Given the description of an element on the screen output the (x, y) to click on. 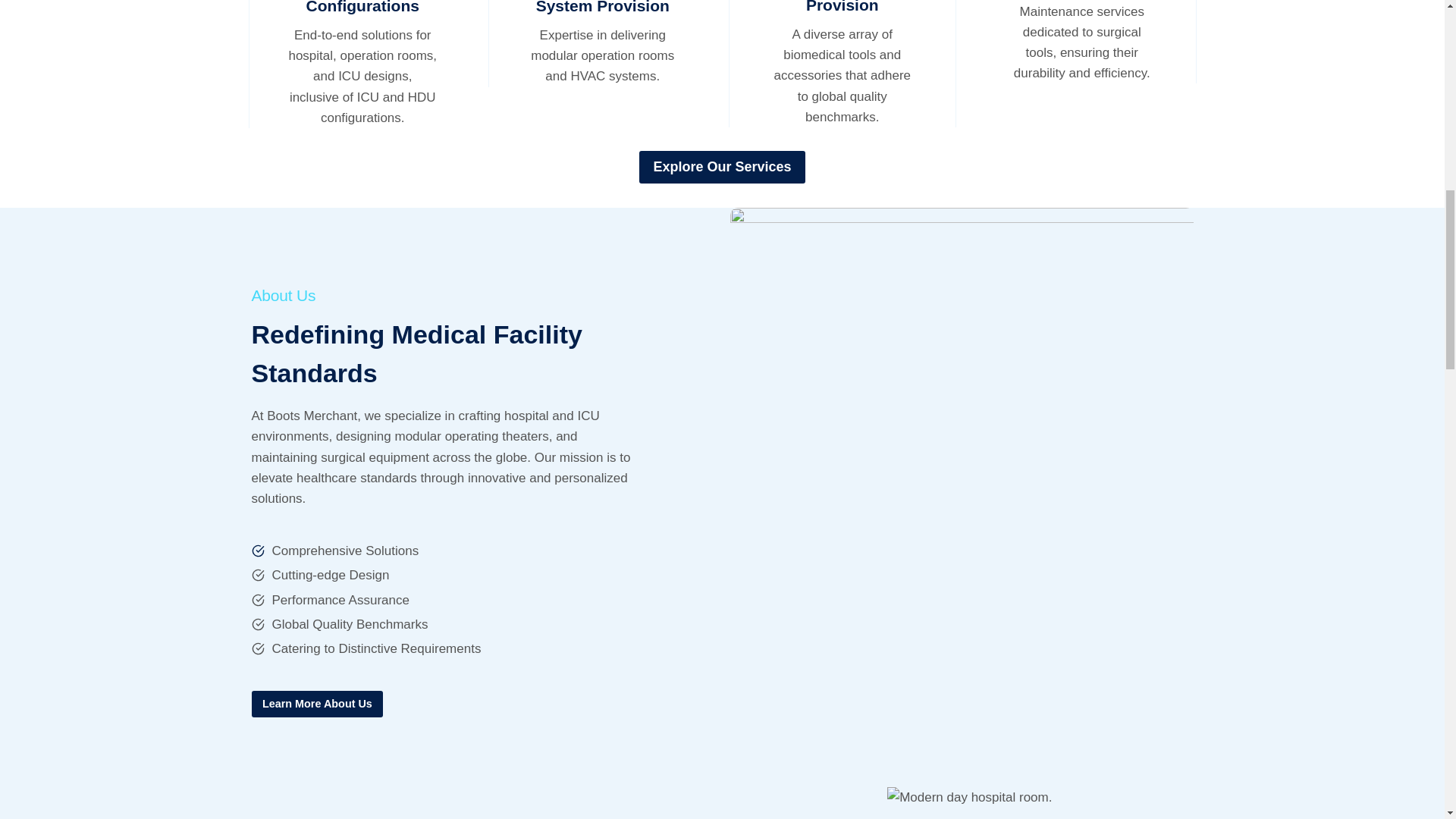
Learn More About Us (317, 704)
Explore Our Services (722, 166)
